Given the description of an element on the screen output the (x, y) to click on. 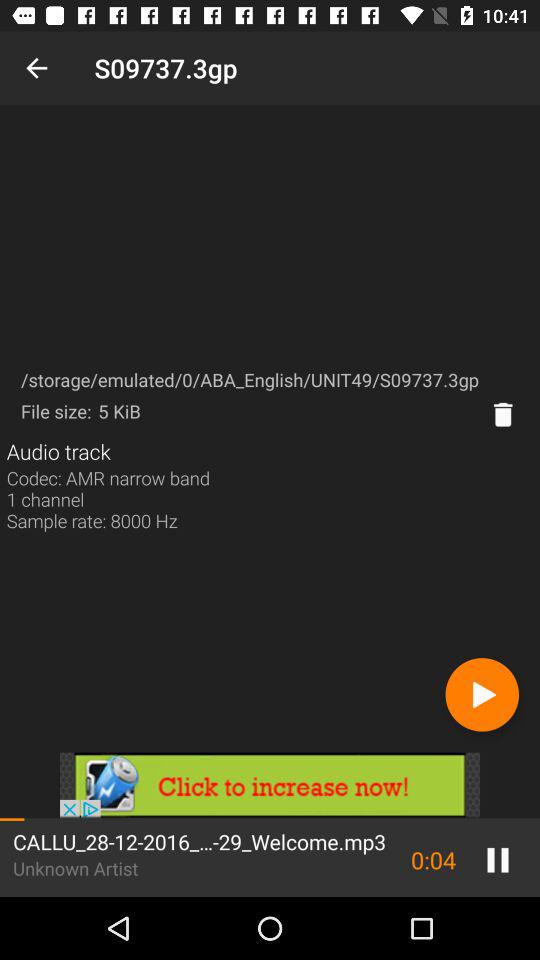
go to play patturn (482, 694)
